Given the description of an element on the screen output the (x, y) to click on. 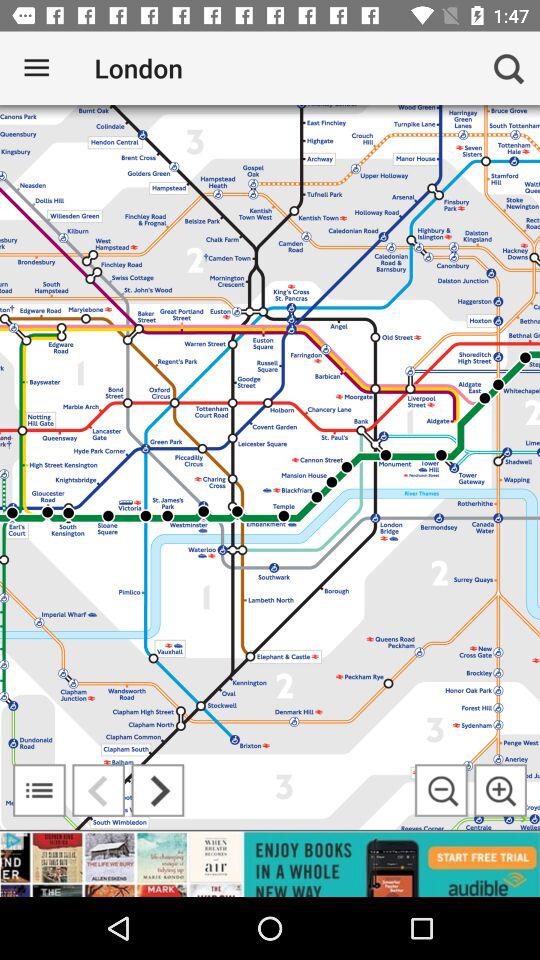
open map legend (39, 790)
